Given the description of an element on the screen output the (x, y) to click on. 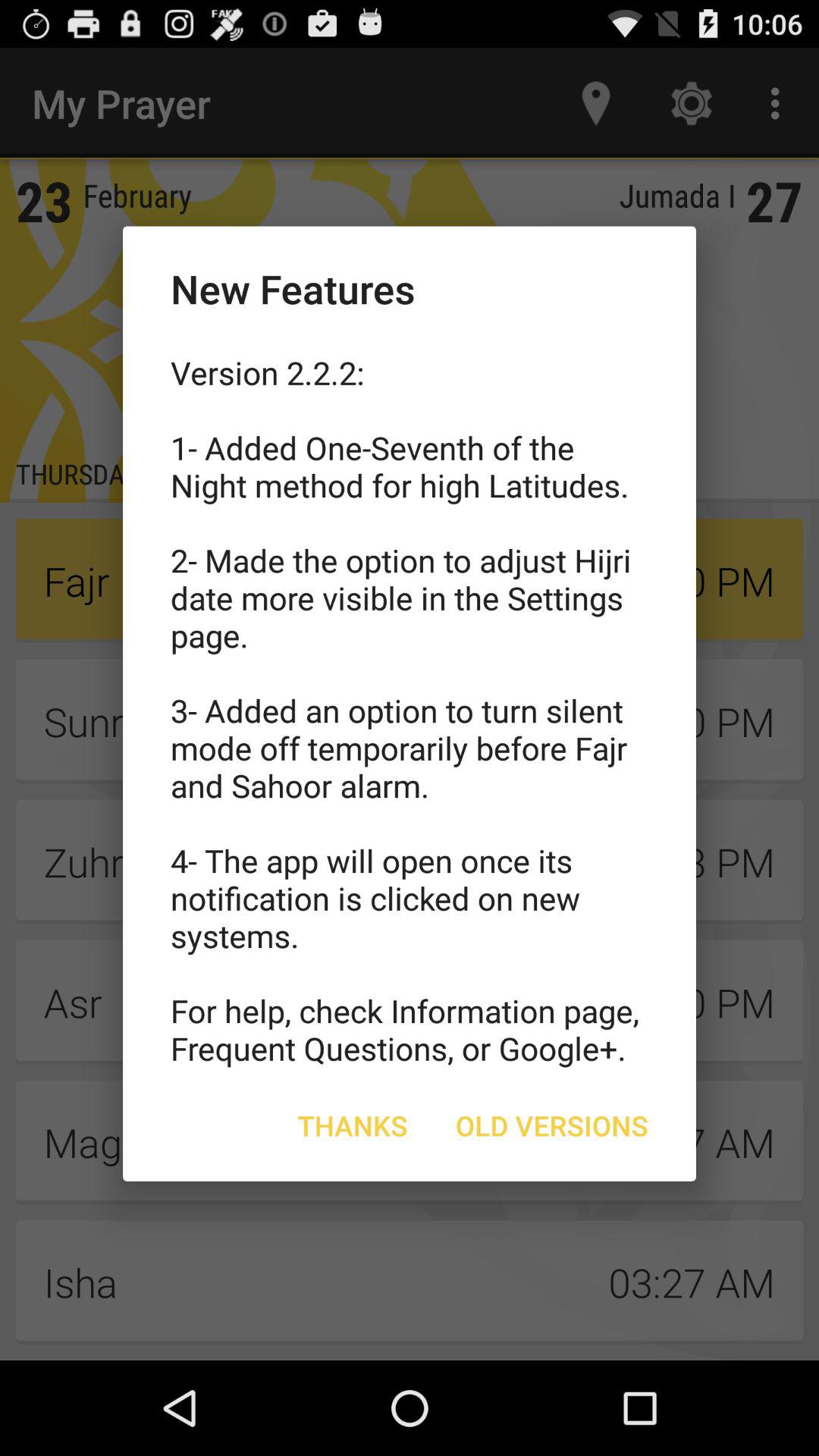
press the thanks at the bottom (352, 1125)
